Given the description of an element on the screen output the (x, y) to click on. 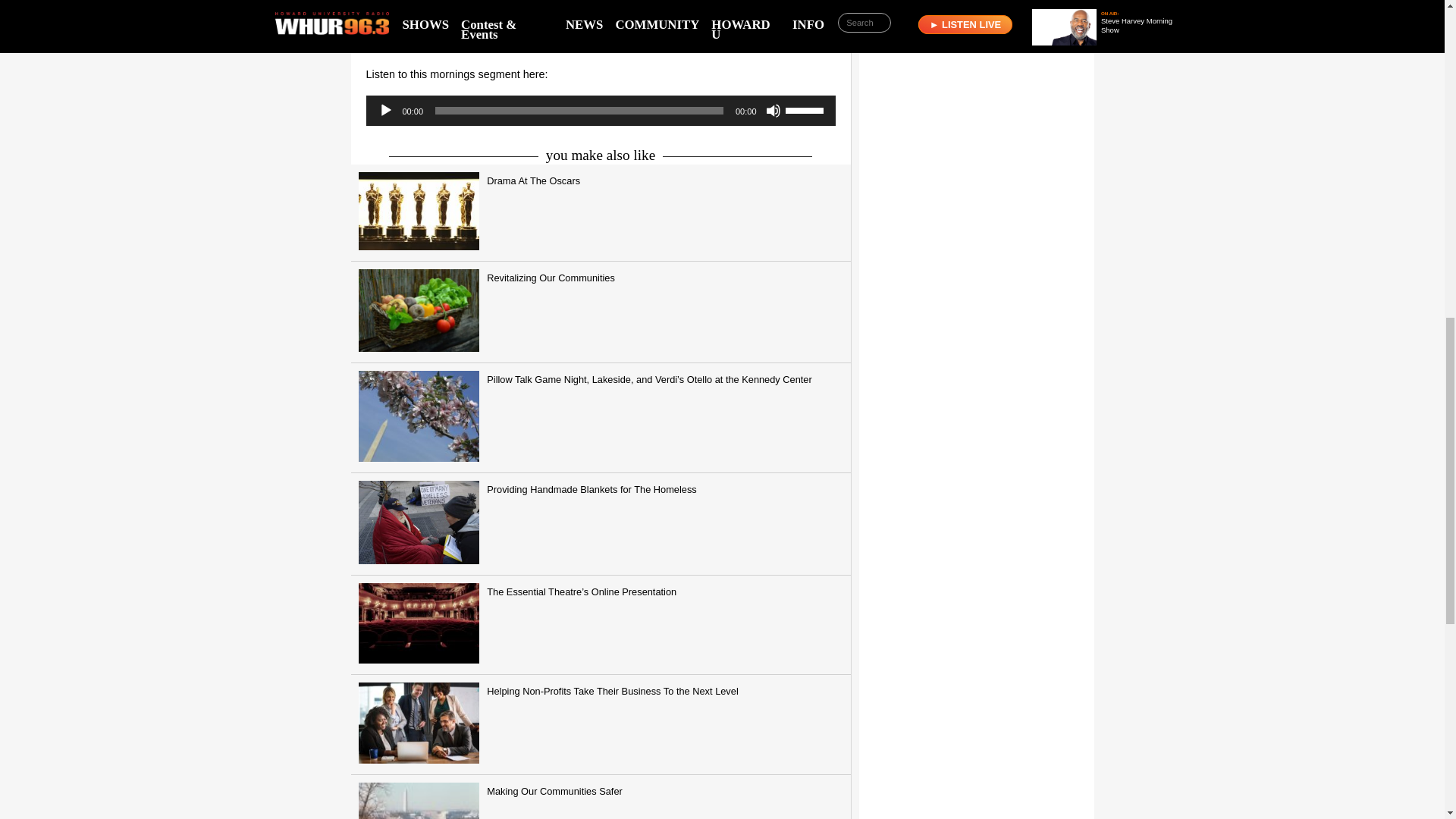
Helping Non-Profits Take Their Business To the Next Level (600, 723)
Making Our Communities Safer (600, 796)
Revitalizing Our Communities (600, 312)
Providing Handmade Blankets for The Homeless (600, 524)
Mute (772, 110)
Drama At The Oscars (600, 213)
Play (385, 110)
